Given the description of an element on the screen output the (x, y) to click on. 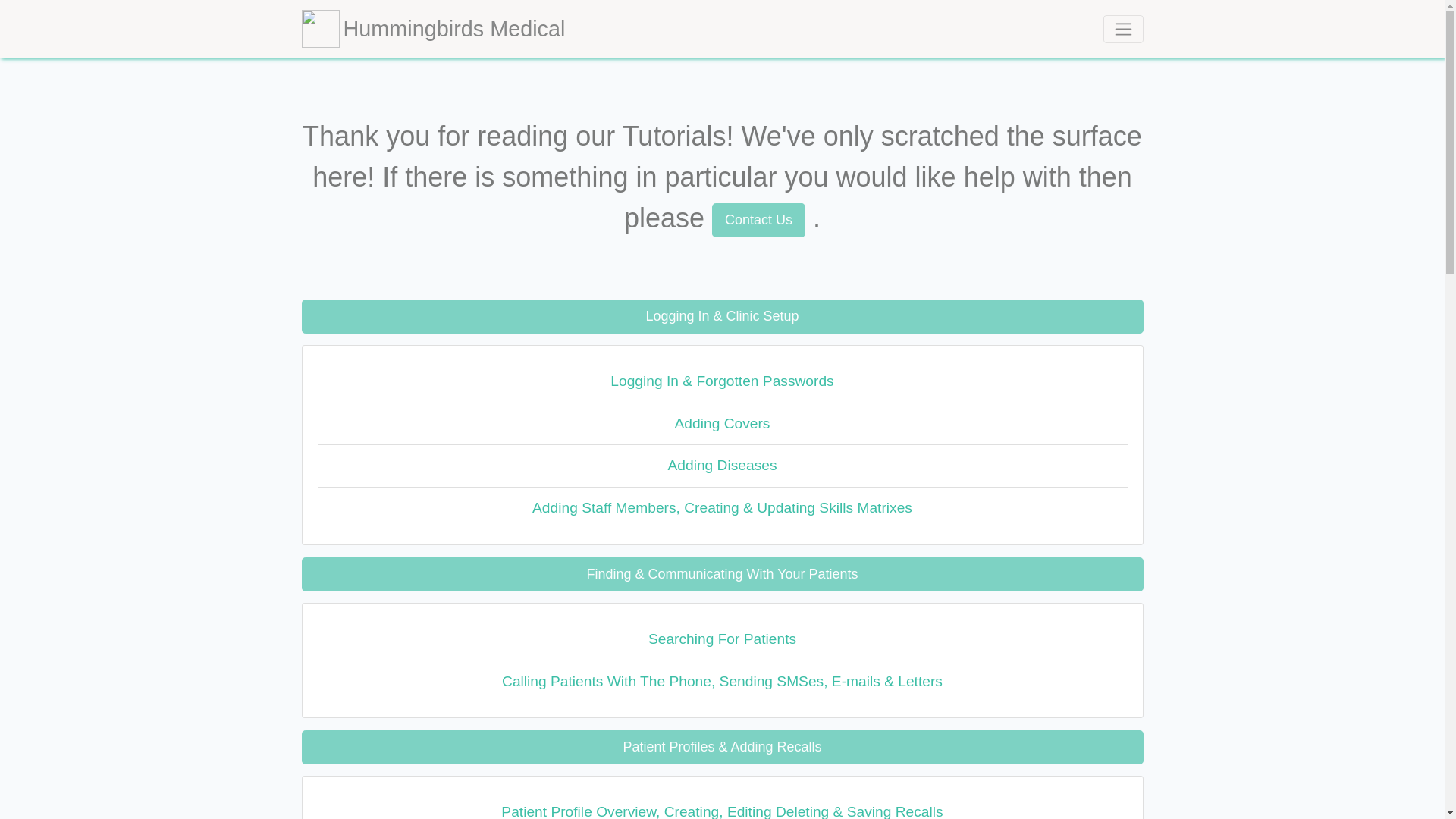
Hummingbirds Medical (433, 28)
Adding Covers (721, 424)
Searching For Patients (721, 639)
Contact Us (761, 217)
Adding Diseases (721, 466)
Contact Us (758, 220)
